Given the description of an element on the screen output the (x, y) to click on. 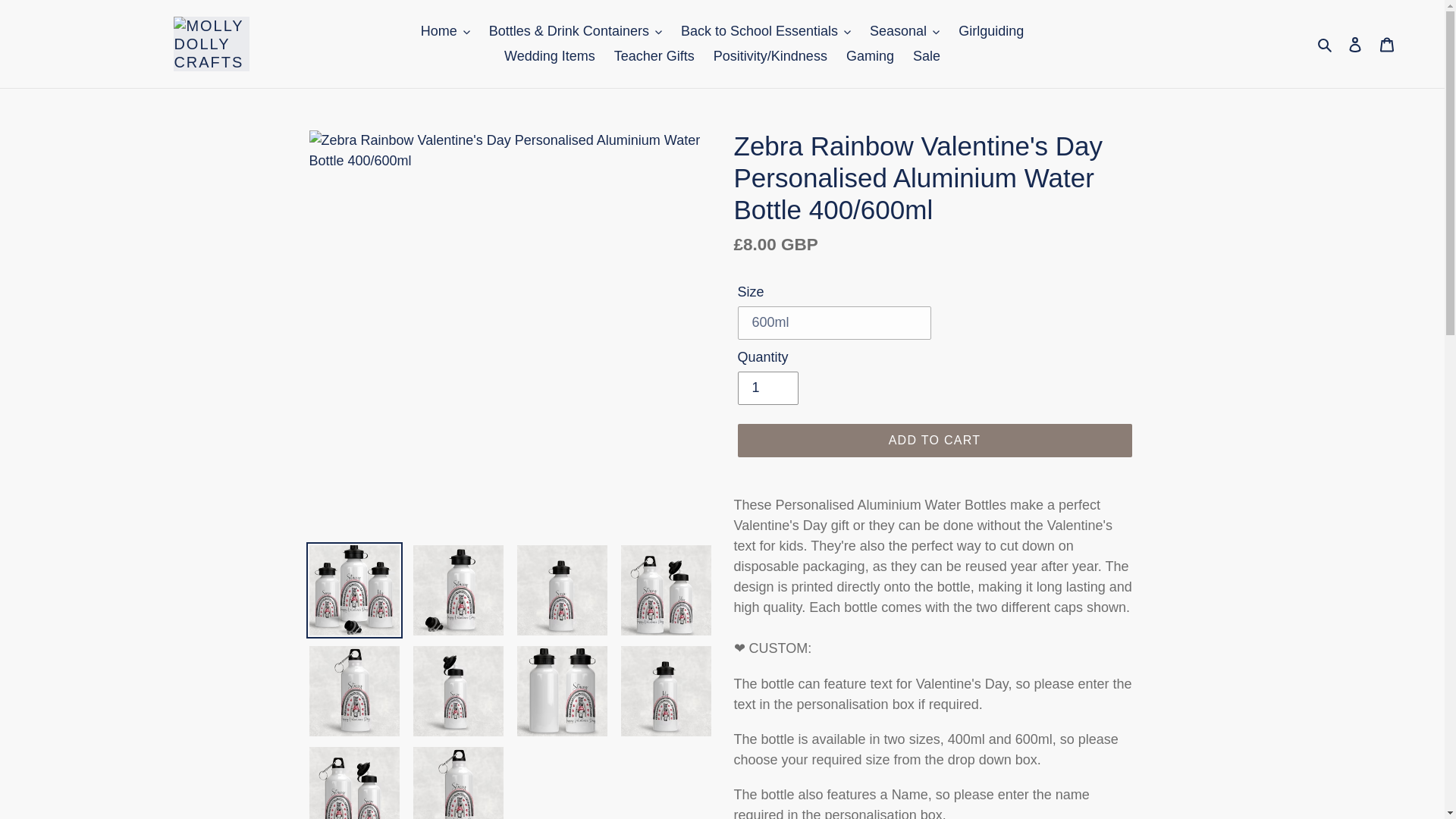
Girlguiding (990, 31)
Wedding Items (549, 56)
1 (766, 387)
Home (445, 31)
Seasonal (904, 31)
Sale (926, 56)
Teacher Gifts (654, 56)
Back to School Essentials (765, 31)
Gaming (869, 56)
